Given the description of an element on the screen output the (x, y) to click on. 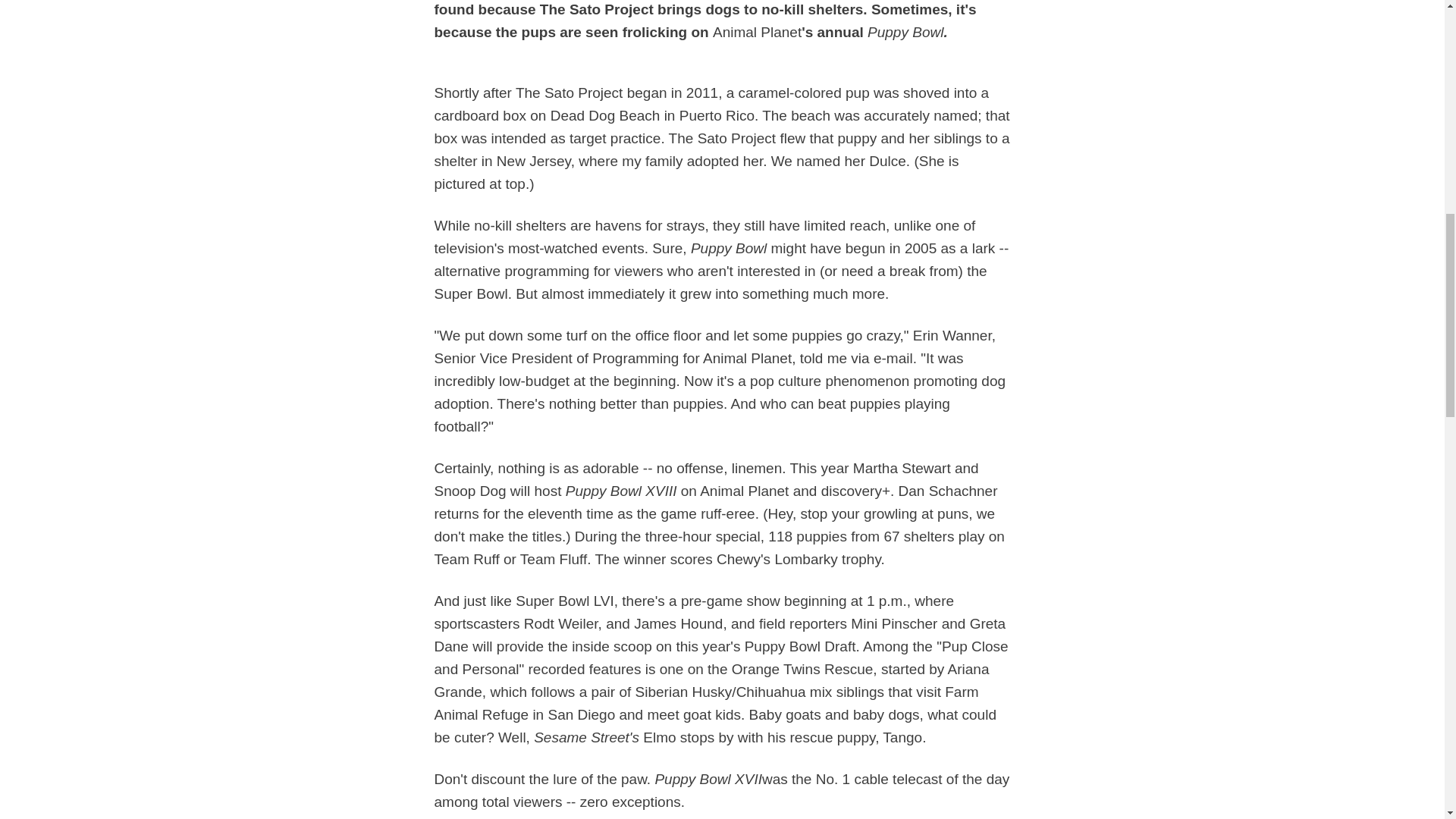
Puppy Bowl (905, 32)
The Sato Project (569, 92)
Animal Planet (757, 32)
